Given the description of an element on the screen output the (x, y) to click on. 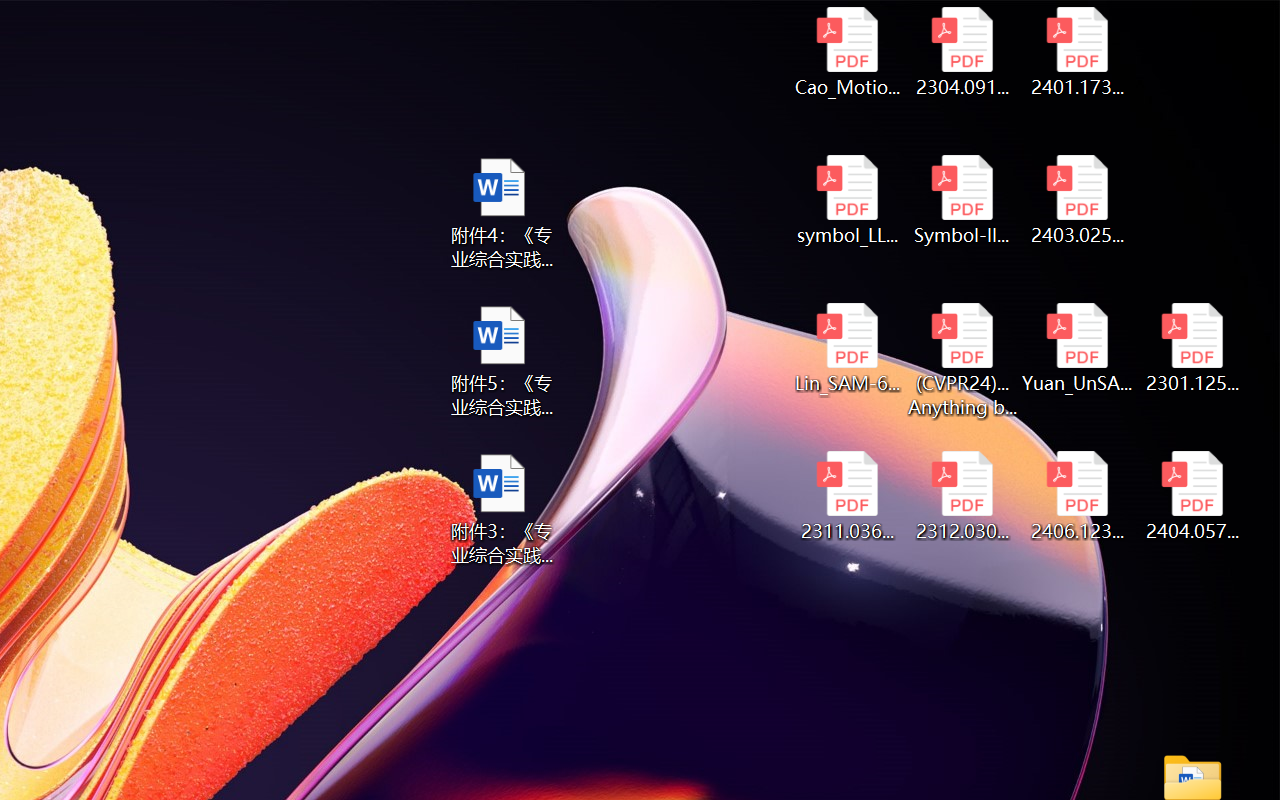
2406.12373v2.pdf (1077, 496)
